Given the description of an element on the screen output the (x, y) to click on. 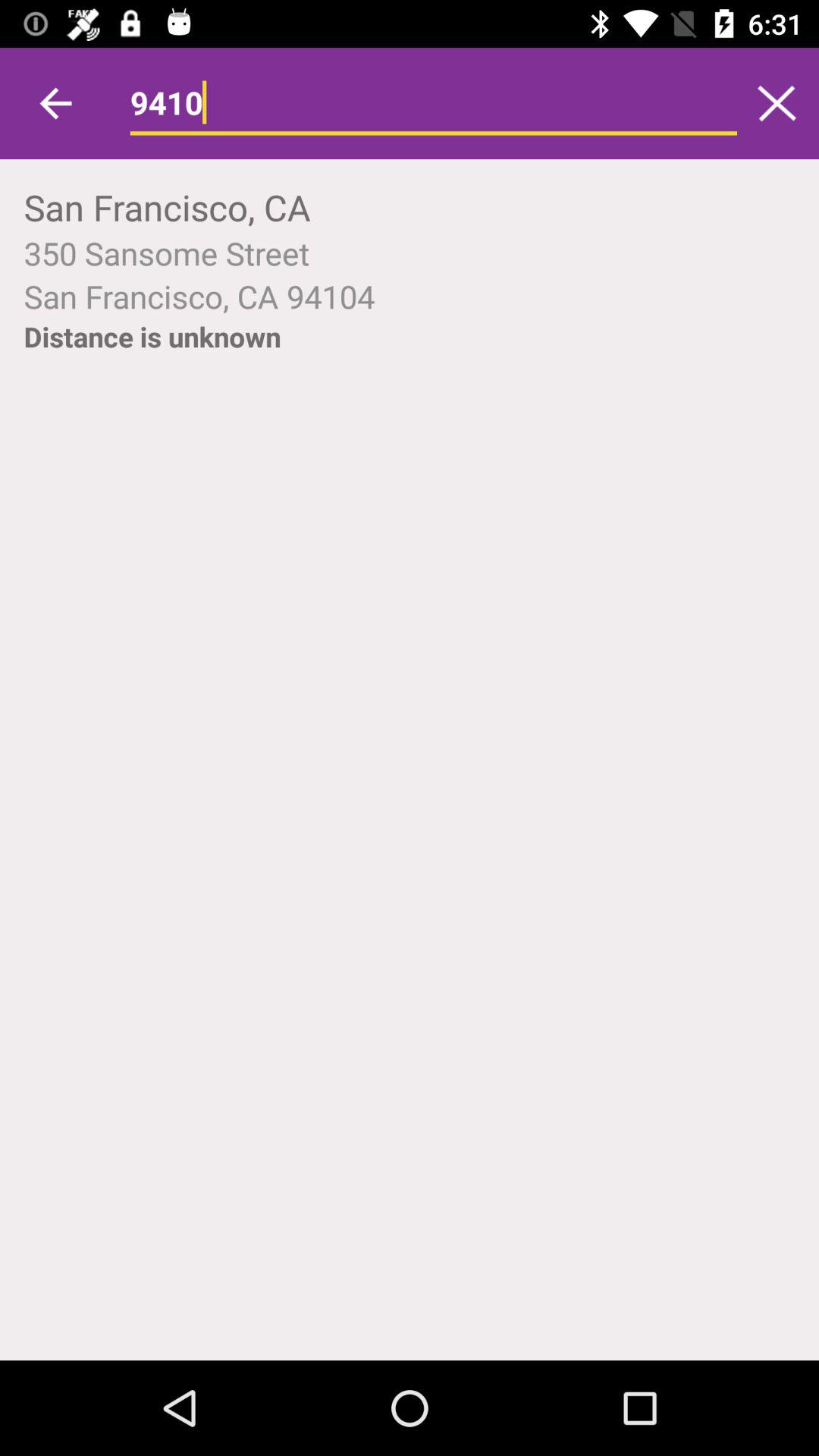
tap icon below the san francisco, ca icon (409, 252)
